Given the description of an element on the screen output the (x, y) to click on. 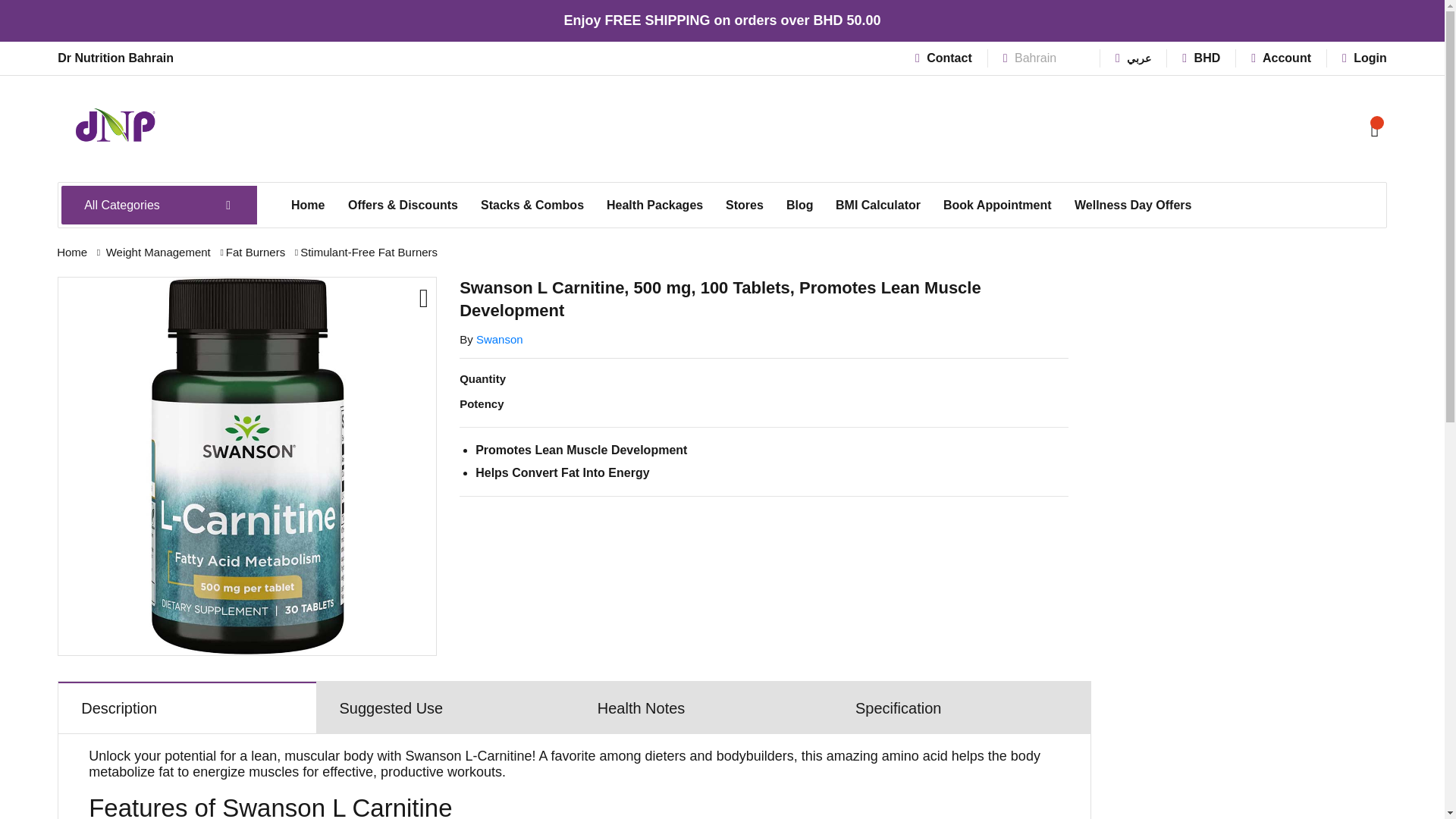
Account (1280, 58)
BHD (1201, 58)
Contact (943, 58)
Contact (943, 58)
BHD (1201, 58)
Health Packages (654, 205)
Account (1280, 58)
Stores (744, 205)
Login (1364, 58)
Login (1364, 58)
Home (307, 205)
